Given the description of an element on the screen output the (x, y) to click on. 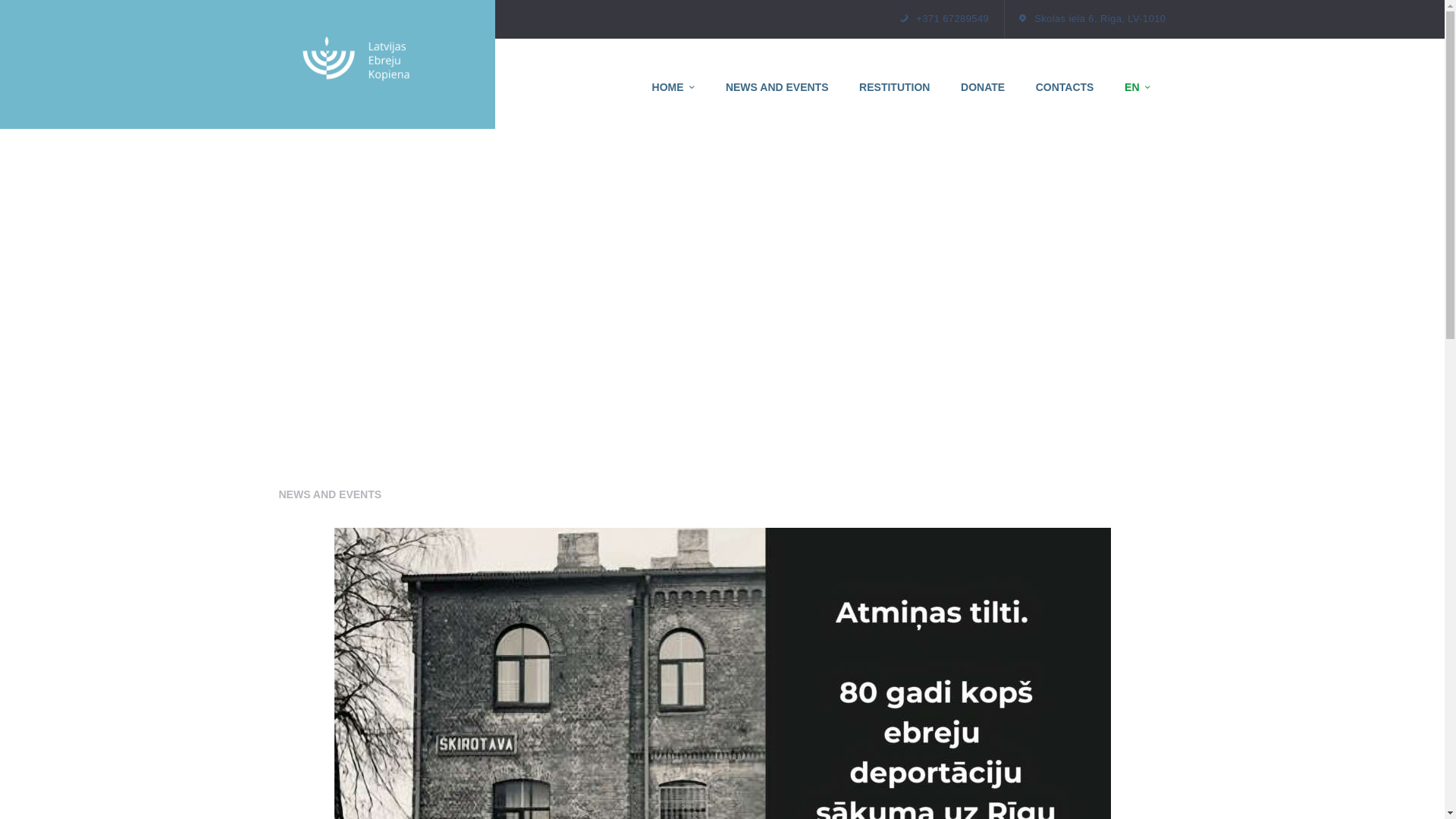
EN (1137, 87)
NEWS AND EVENTS (777, 87)
CONTACTS (1064, 87)
DONATE (982, 87)
HOME (673, 87)
RESTITUTION (894, 87)
NEWS AND EVENTS (330, 494)
